Given the description of an element on the screen output the (x, y) to click on. 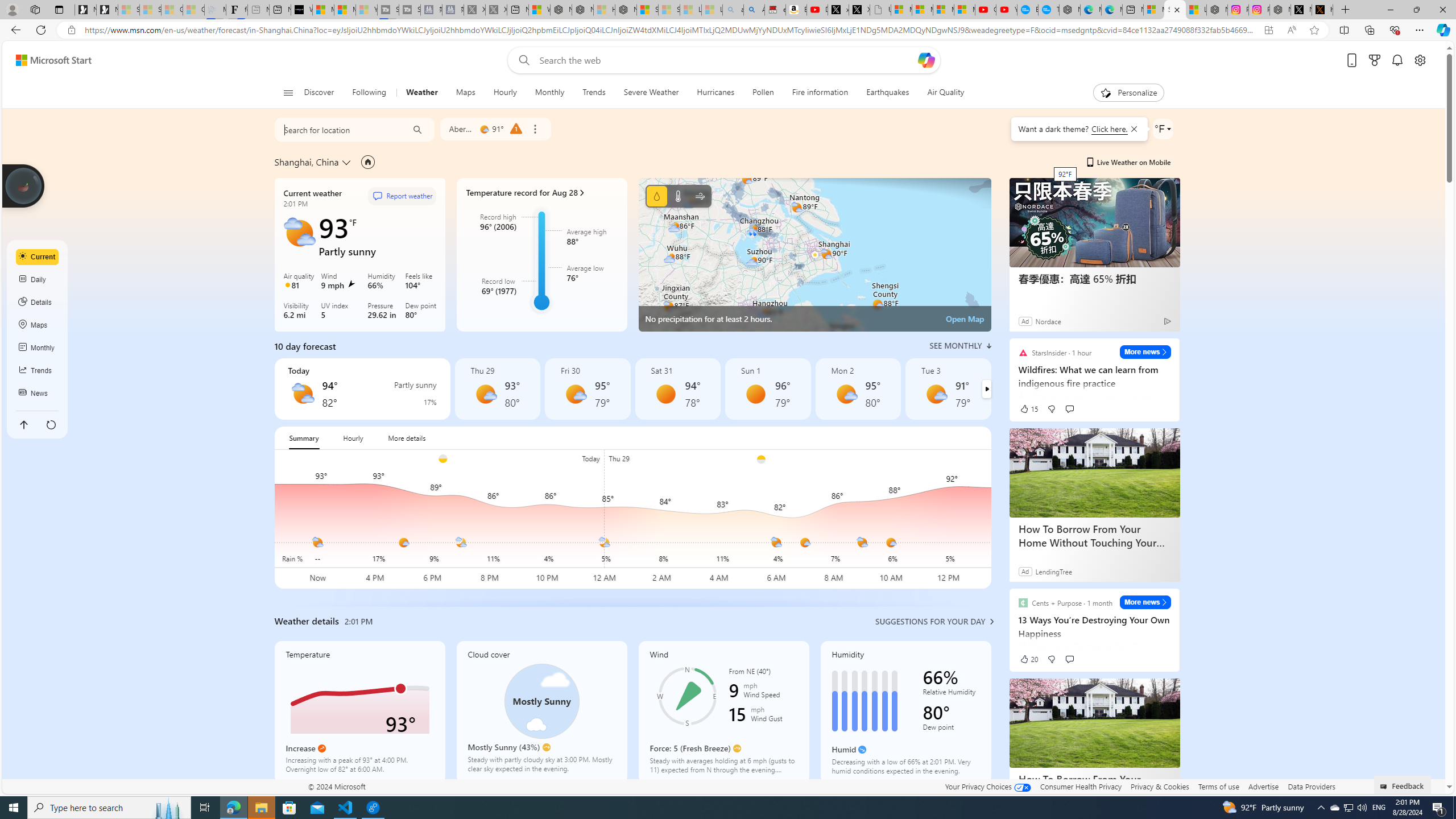
Open navigation menu (287, 92)
Mostly sunny (935, 393)
Consumer Health Privacy (1080, 785)
LendingTree (1053, 570)
Terms of use (1218, 786)
Nordace (@NordaceOfficial) / X (1300, 9)
Daily (37, 279)
Humidity (905, 711)
Visibility 6.2 mi (300, 311)
